Given the description of an element on the screen output the (x, y) to click on. 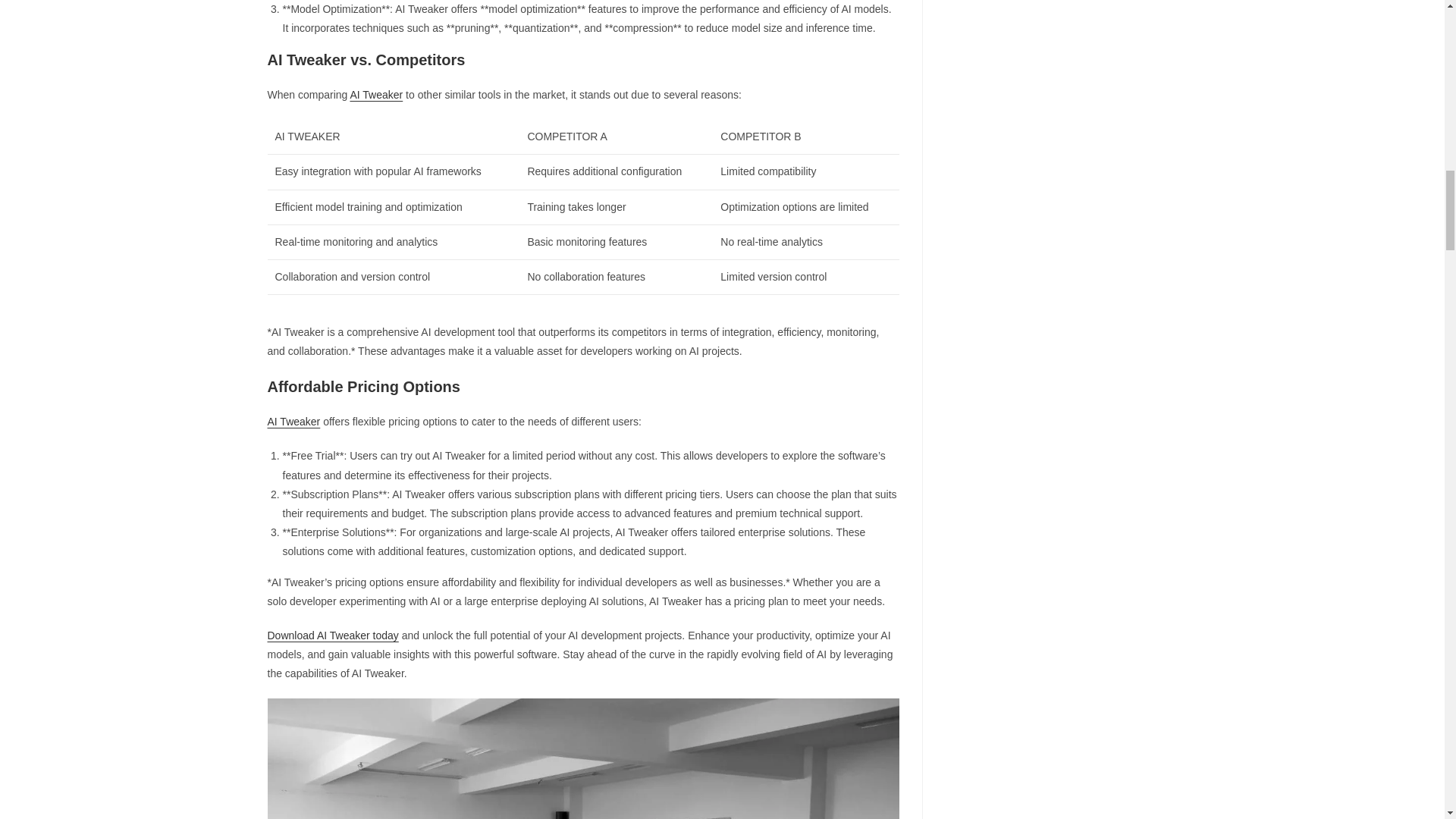
Download AI Tweaker (582, 758)
AI Tweaker (376, 94)
Download AI Tweaker today (331, 635)
AI Tweaker (293, 421)
